Given the description of an element on the screen output the (x, y) to click on. 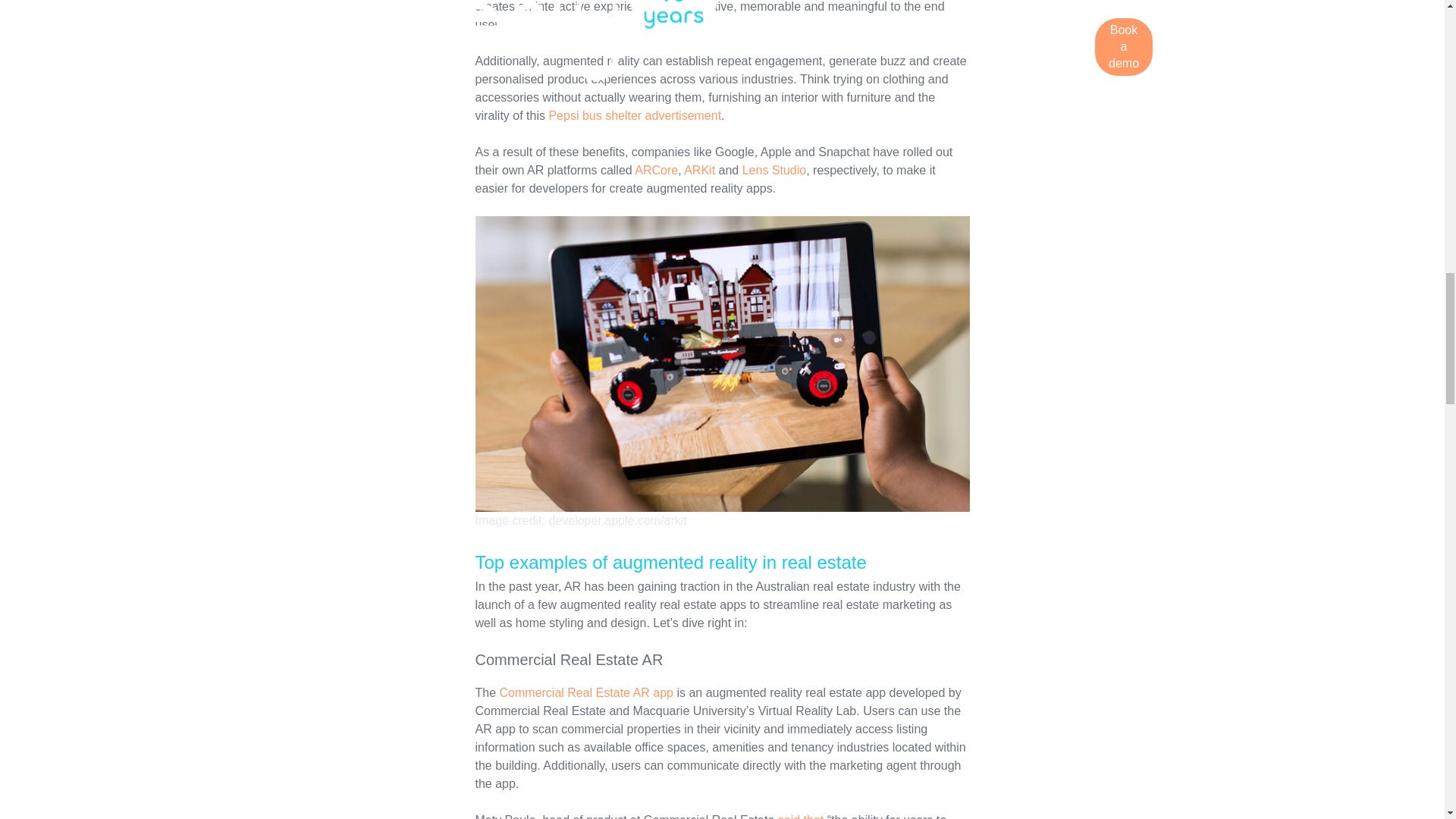
ARCore (656, 169)
ARKit (699, 169)
said that (800, 816)
Lens Studio (774, 169)
Commercial Real Estate AR app (585, 692)
Pepsi bus shelter advertisement (634, 115)
